Given the description of an element on the screen output the (x, y) to click on. 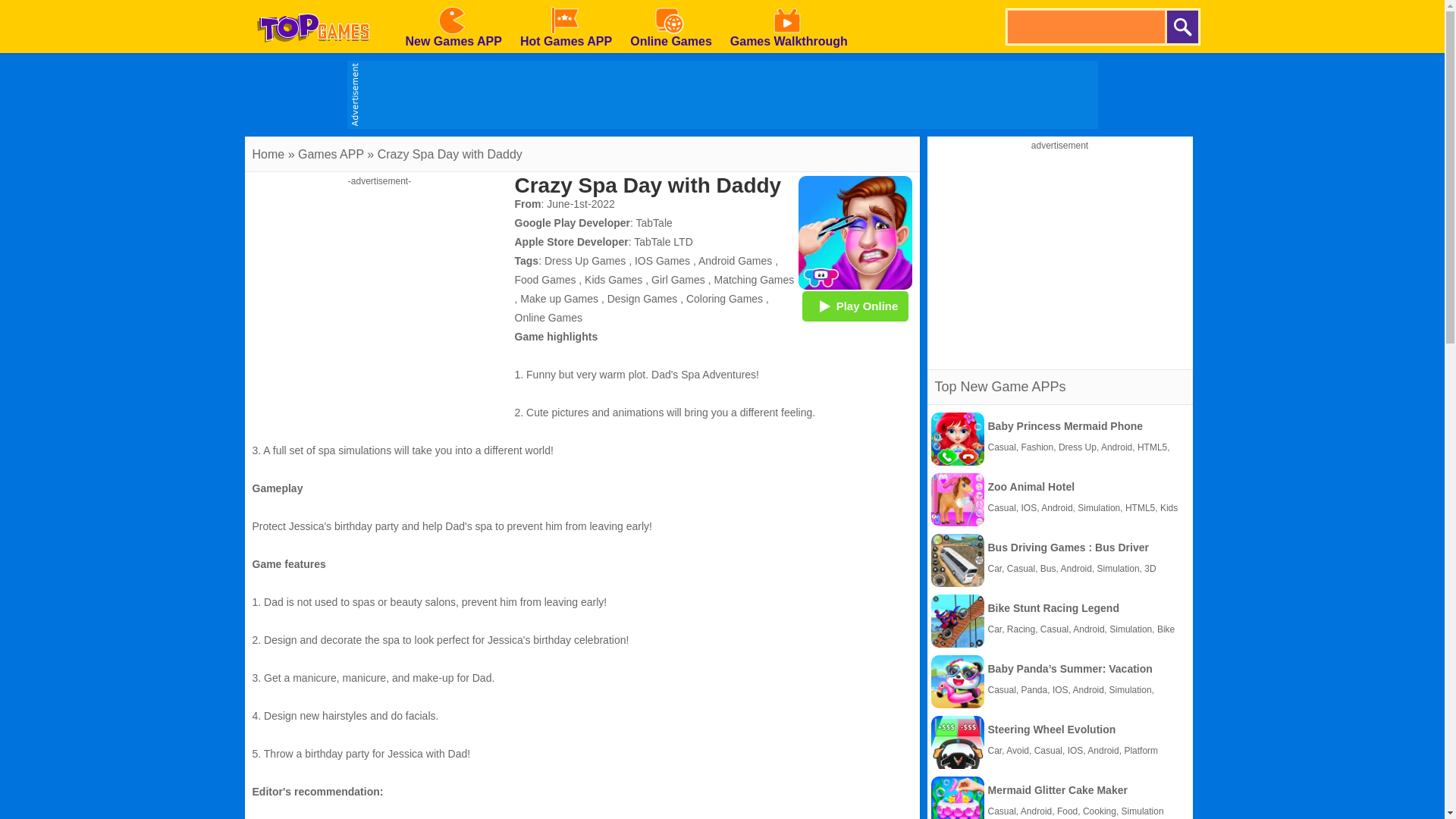
Make up Games (558, 298)
Home (267, 154)
Android Games (734, 260)
Advertisement (1060, 256)
Online Games (546, 317)
TabTale LTD (663, 241)
Coloring Games (723, 298)
Matching Games (754, 279)
Dress Up Games (585, 260)
Food Games (544, 279)
TabTale (654, 223)
IOS Games (662, 260)
Play Online (855, 306)
Kids Games (613, 279)
Design Games (642, 298)
